Given the description of an element on the screen output the (x, y) to click on. 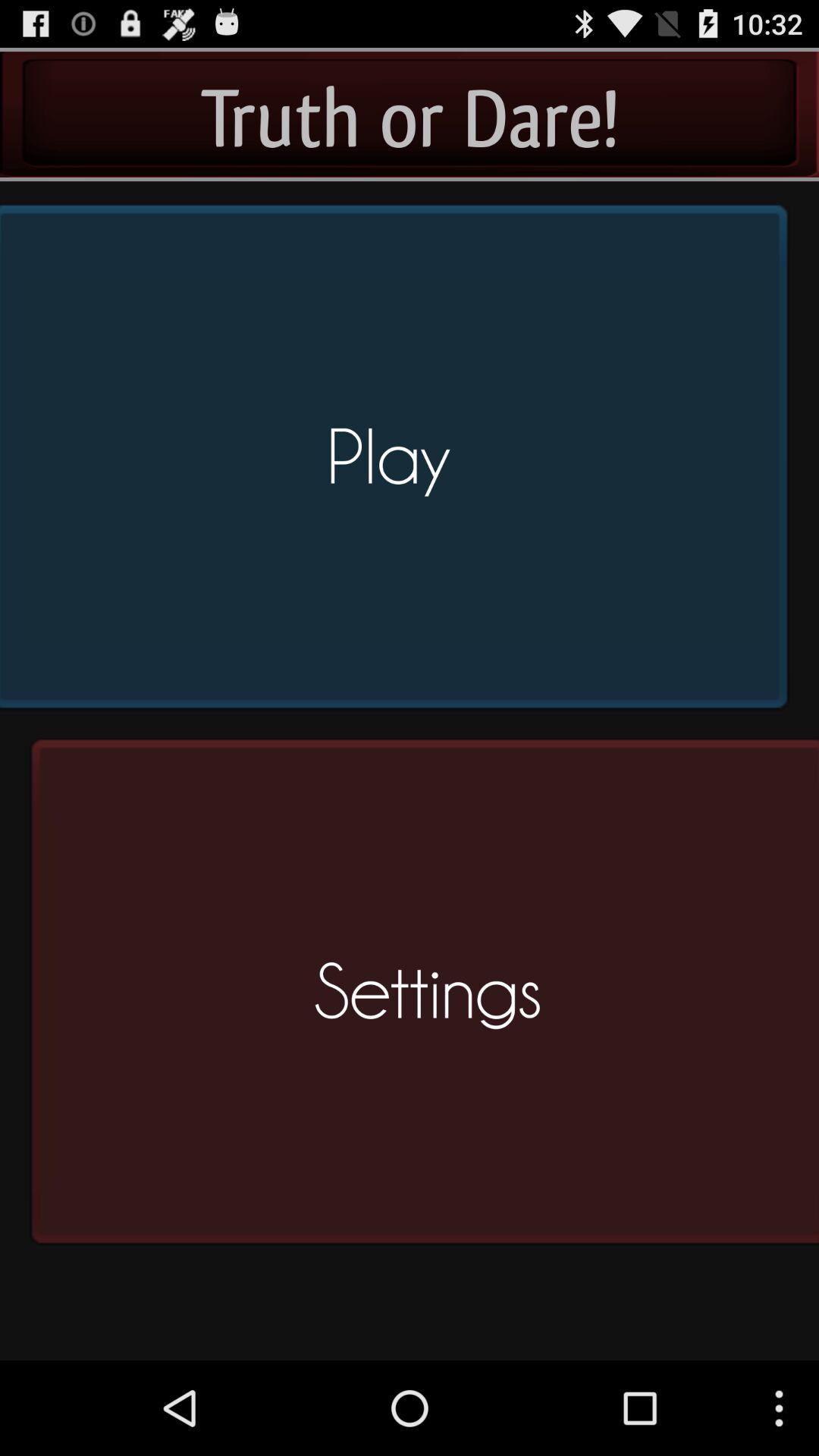
choose the settings item (419, 997)
